Given the description of an element on the screen output the (x, y) to click on. 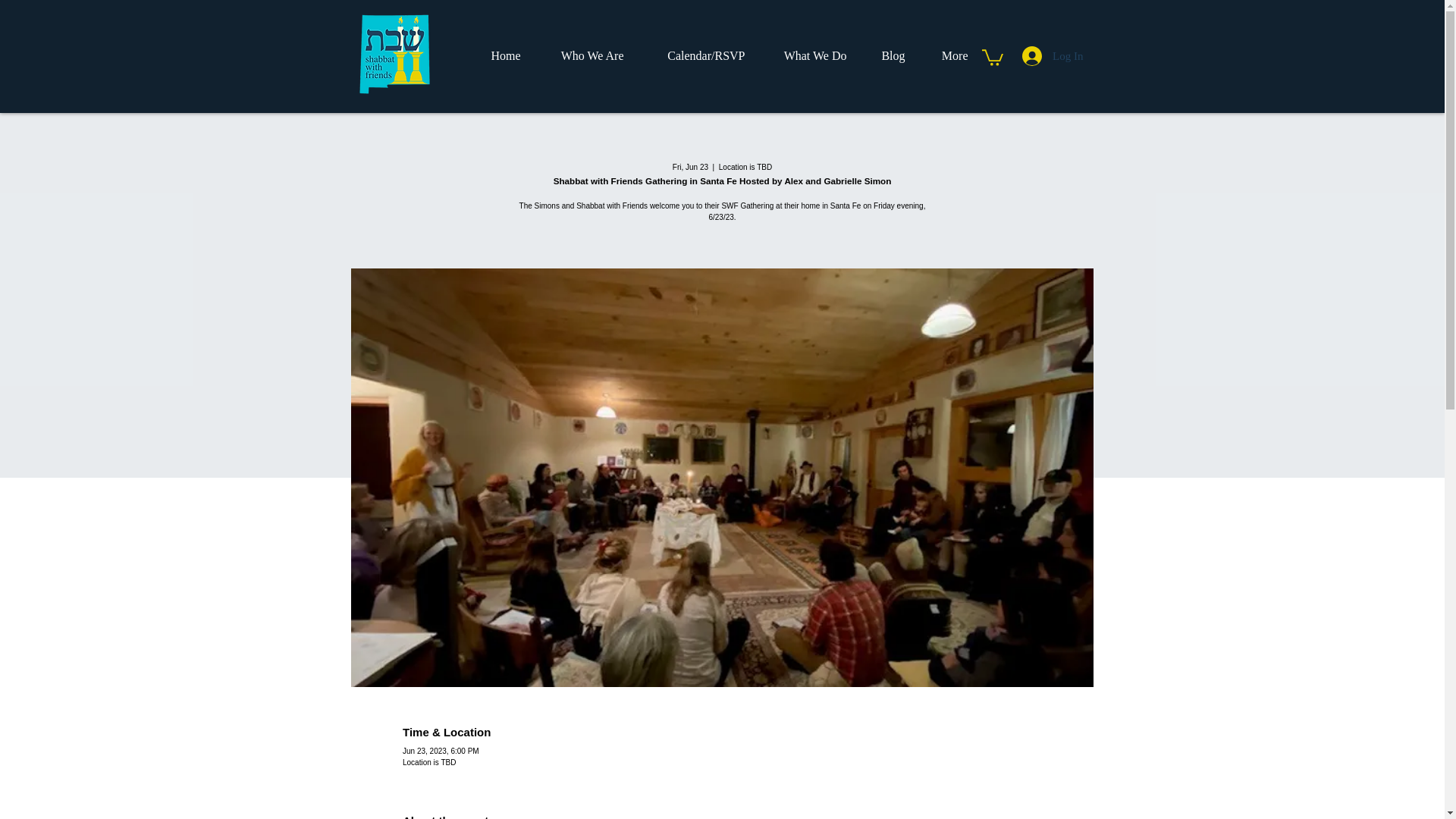
Blog (888, 55)
Log In (1052, 55)
Who We Are (583, 55)
What We Do (808, 55)
Home (498, 55)
